Given the description of an element on the screen output the (x, y) to click on. 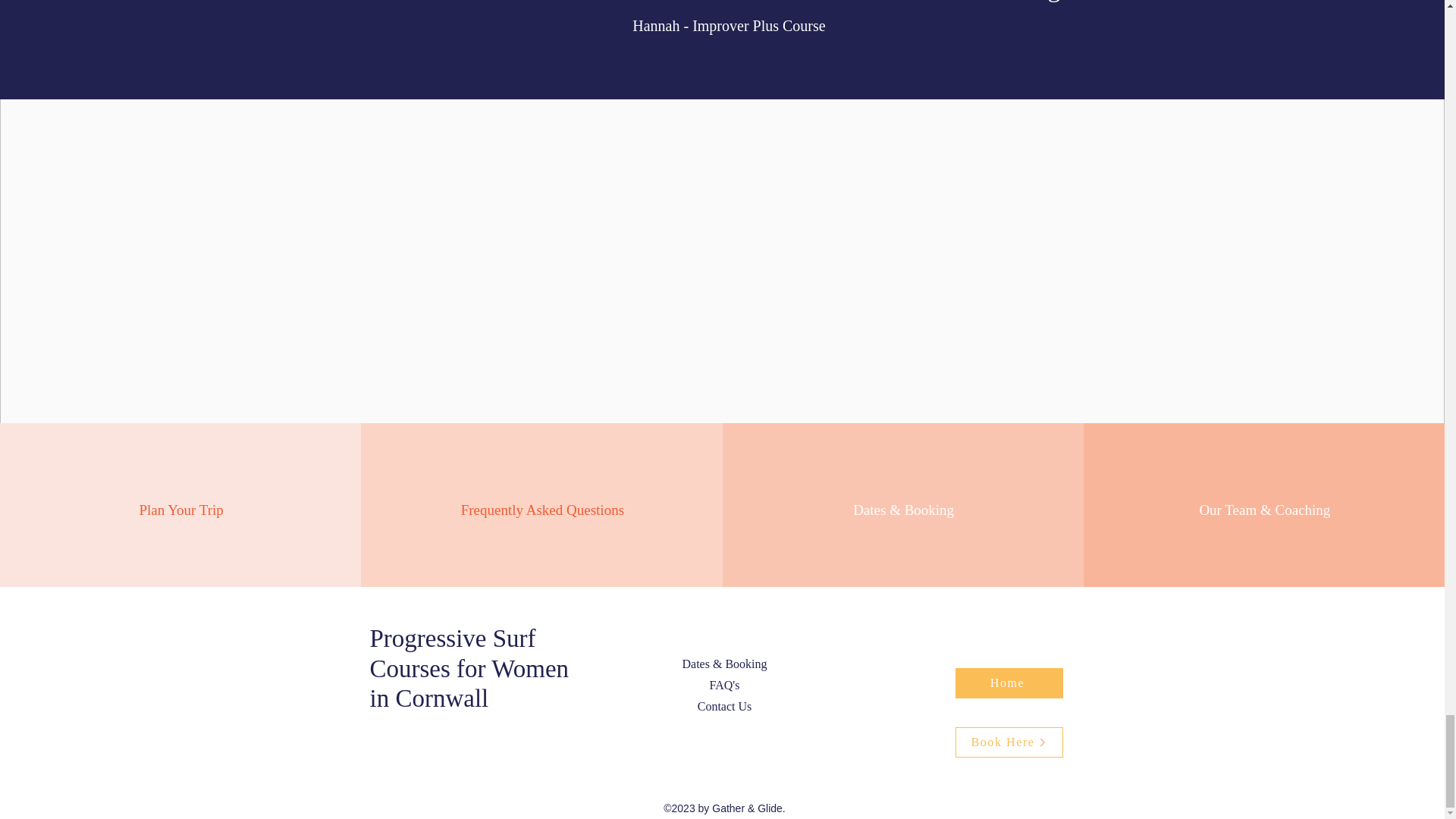
Contact Us (724, 706)
Frequently Asked Questions (542, 509)
FAQ's (724, 684)
Book Here (1008, 742)
Home (1008, 683)
Plan Your Trip (181, 509)
